Given the description of an element on the screen output the (x, y) to click on. 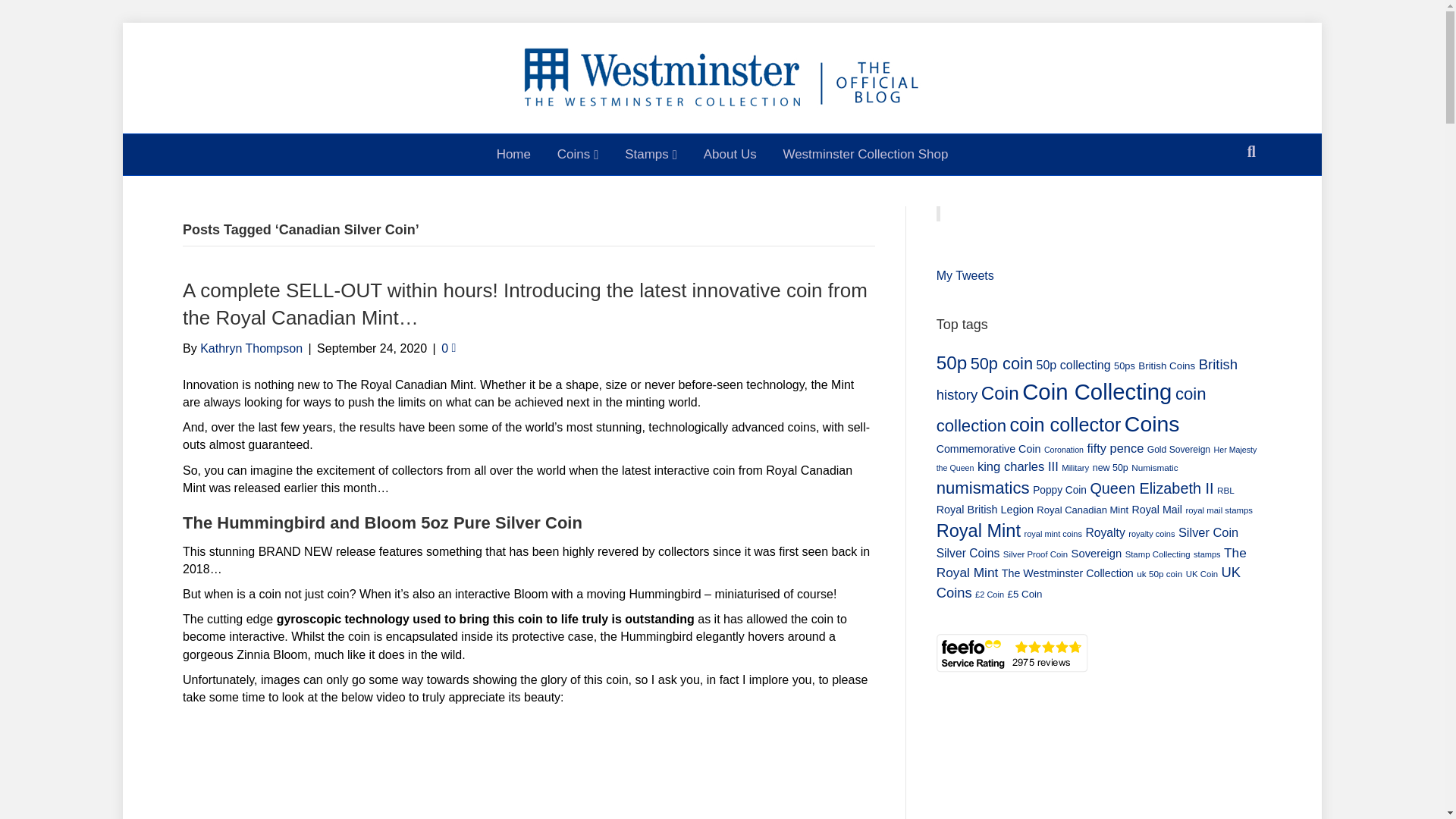
Stamps (650, 154)
Coins (578, 154)
About Us (730, 154)
Home (512, 154)
Westminster Collection Shop (865, 154)
Kathryn Thompson (251, 348)
0 (448, 348)
